Given the description of an element on the screen output the (x, y) to click on. 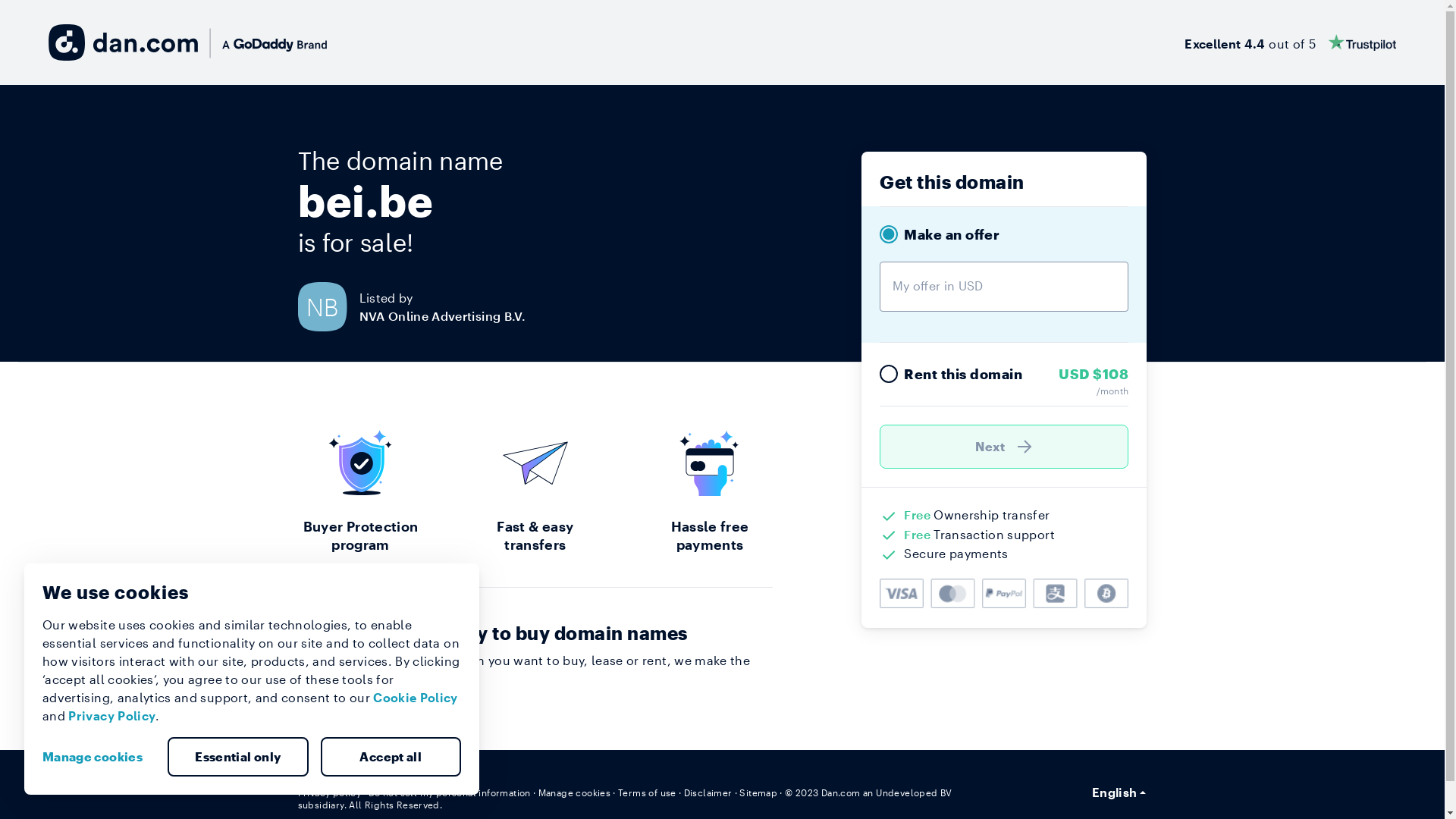
Cookie Policy Element type: text (415, 697)
Disclaimer Element type: text (708, 792)
Manage cookies Element type: text (98, 756)
Do not sell my personal information Element type: text (449, 792)
Privacy Policy Element type: text (111, 715)
Manage cookies Element type: text (574, 792)
Privacy policy Element type: text (328, 792)
Excellent 4.4 out of 5 Element type: text (1290, 42)
Next
) Element type: text (1003, 446)
Terms of use Element type: text (647, 792)
Essential only Element type: text (237, 756)
English Element type: text (1119, 792)
Accept all Element type: text (390, 756)
Sitemap Element type: text (758, 792)
